Given the description of an element on the screen output the (x, y) to click on. 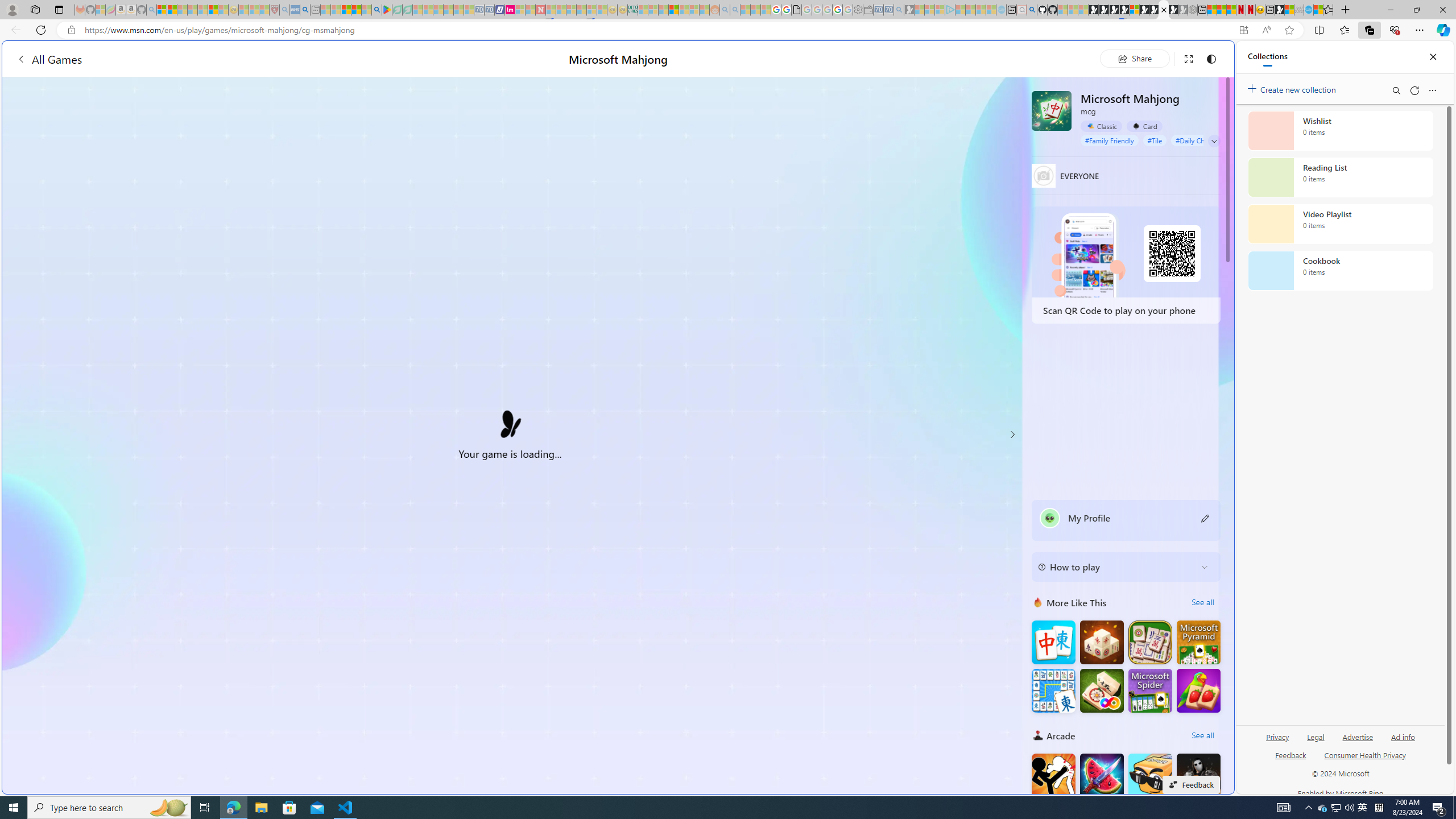
Mahjong 3D Connect (1101, 642)
Mahjong Big (1053, 642)
Arcade (1037, 735)
All Games (216, 58)
